Given the description of an element on the screen output the (x, y) to click on. 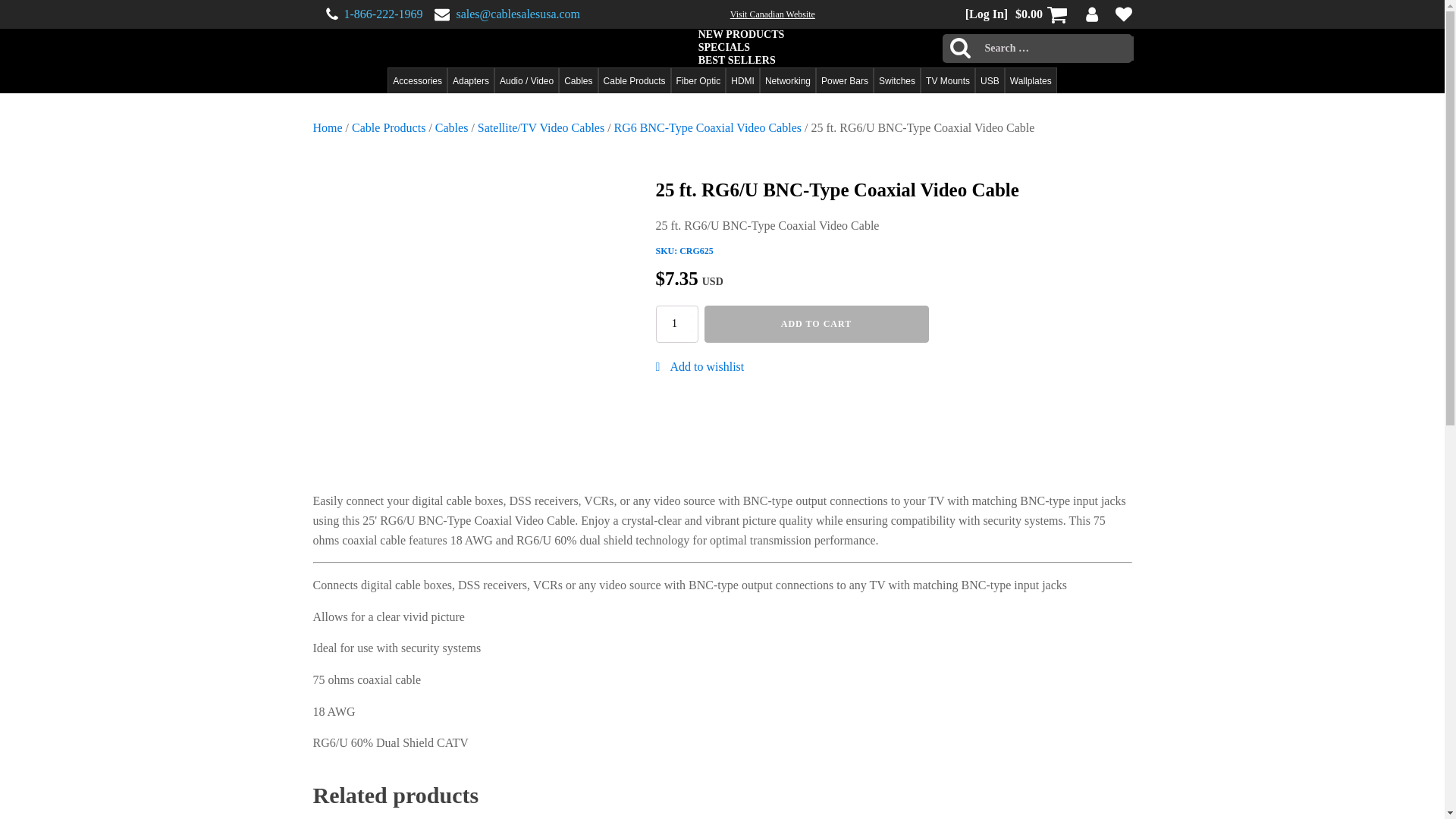
1 (676, 323)
My account (1091, 14)
1-866-222-1969 (383, 14)
Visit Canadian Website (772, 14)
